Given the description of an element on the screen output the (x, y) to click on. 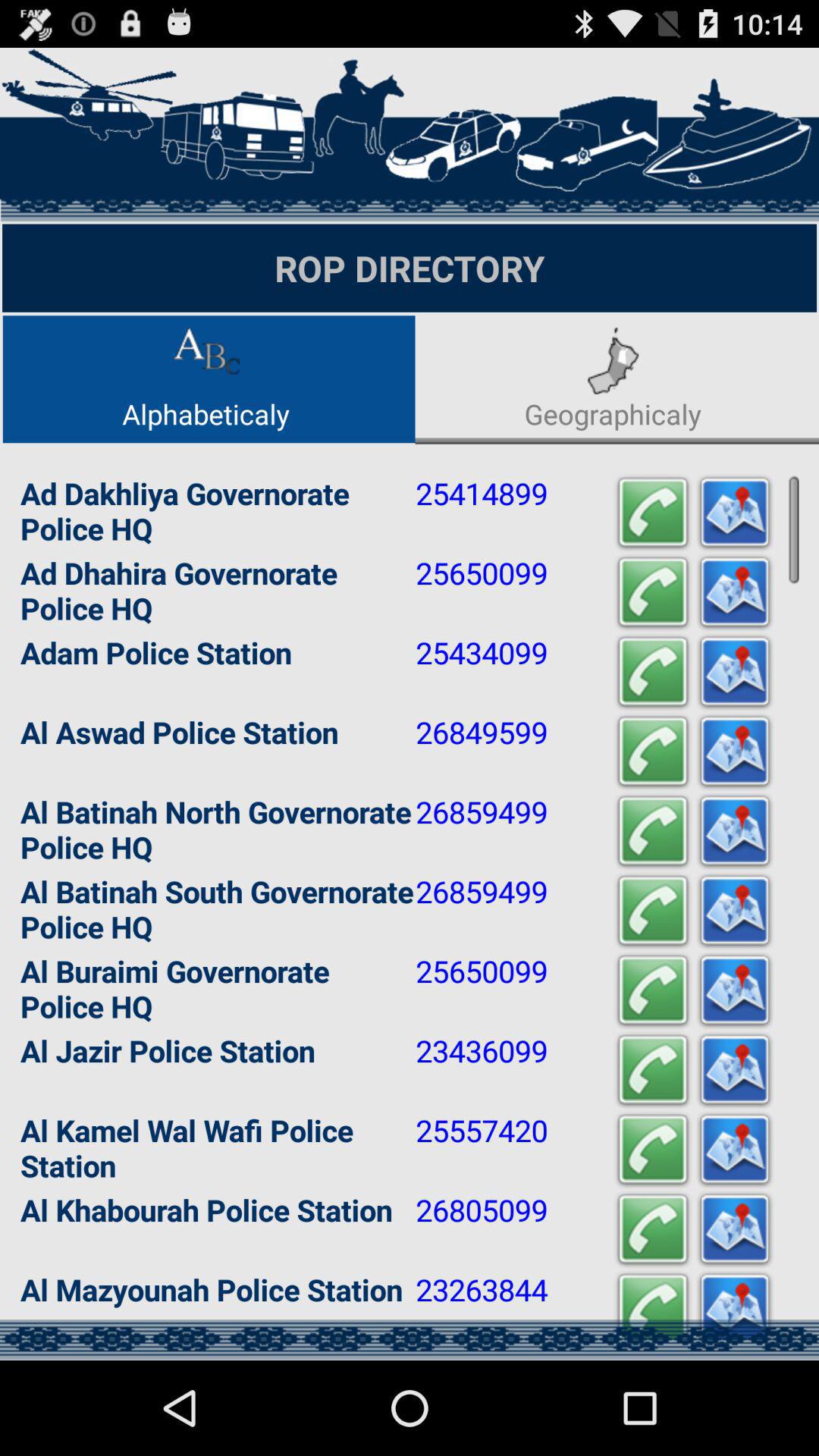
call option (652, 751)
